Given the description of an element on the screen output the (x, y) to click on. 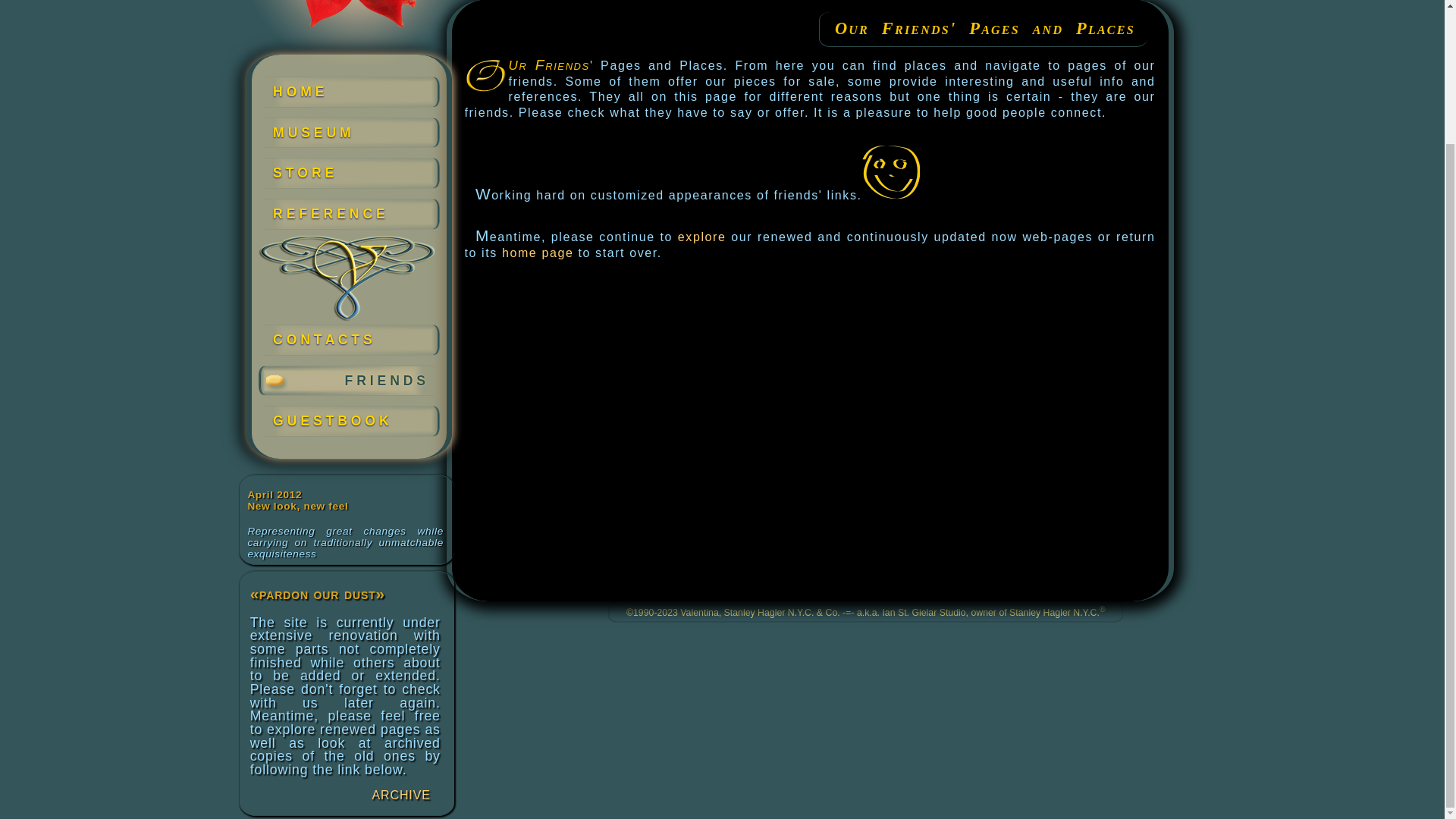
home page (537, 252)
archive (400, 793)
explore (702, 236)
